Given the description of an element on the screen output the (x, y) to click on. 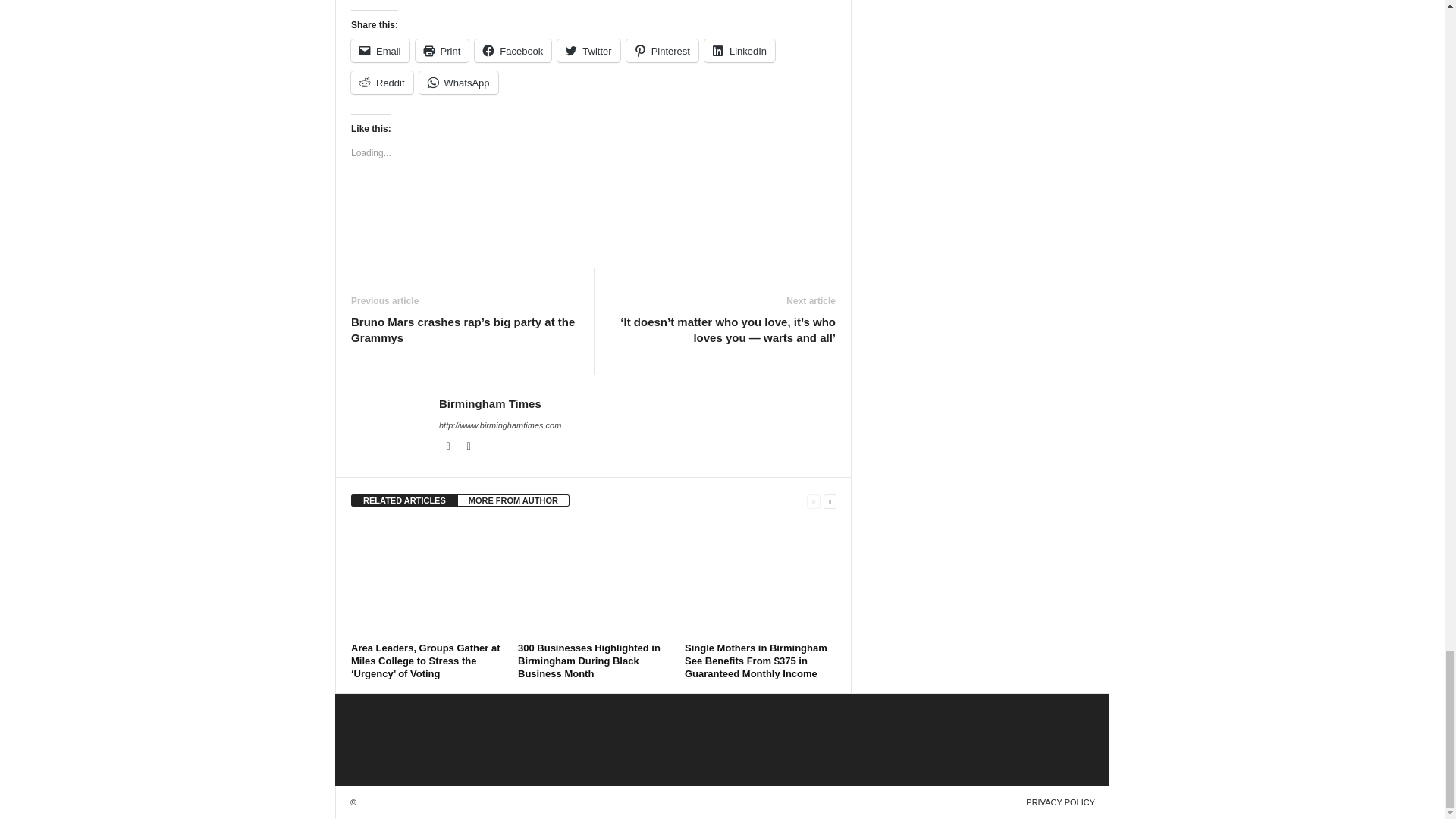
Click to share on LinkedIn (739, 50)
bottomFacebookLike (390, 214)
Click to print (441, 50)
Click to share on Pinterest (662, 50)
Click to share on Reddit (381, 82)
Click to share on Facebook (512, 50)
Click to share on WhatsApp (458, 82)
Click to share on Twitter (588, 50)
Click to email a link to a friend (379, 50)
